Given the description of an element on the screen output the (x, y) to click on. 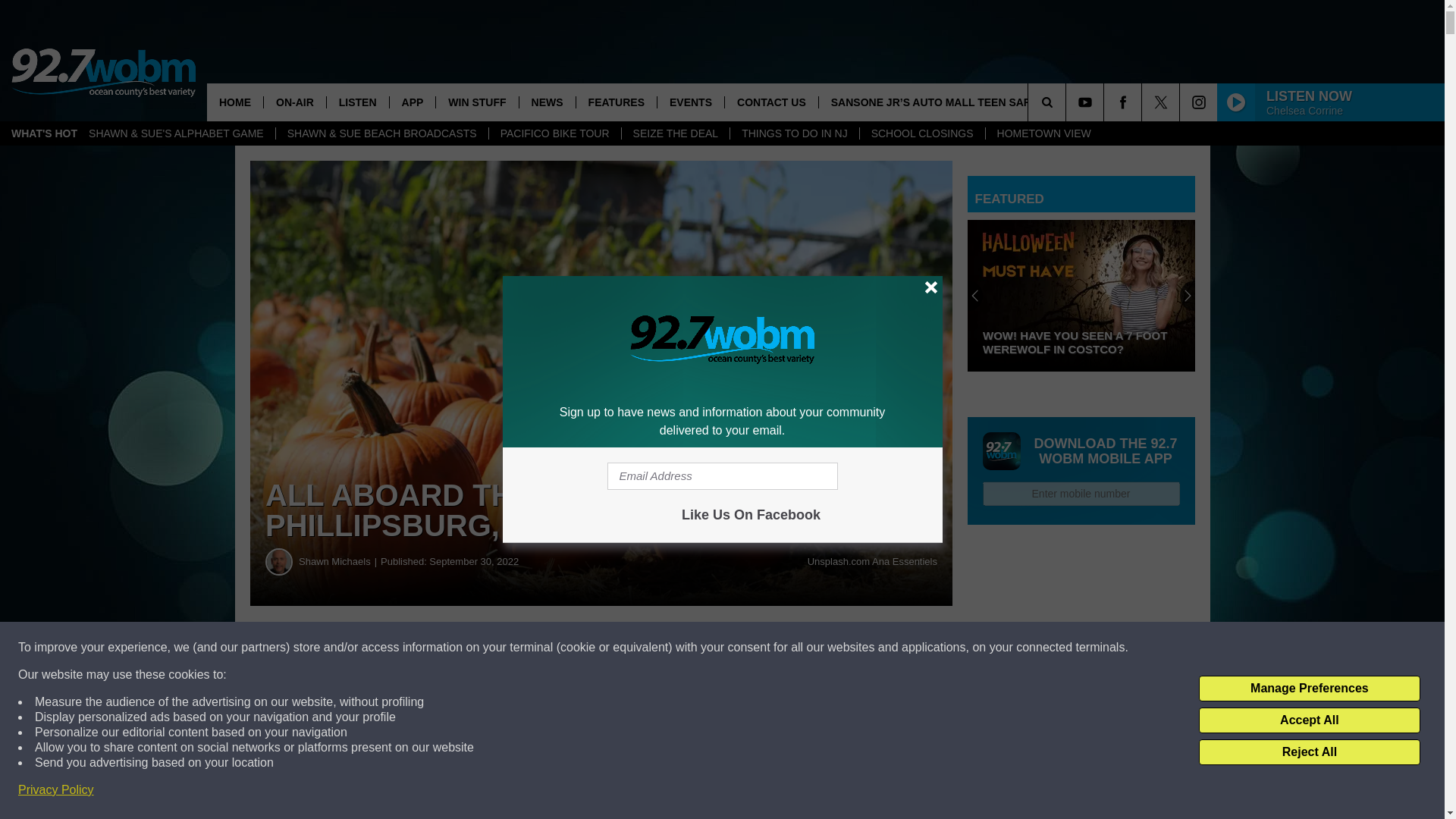
LISTEN (357, 102)
Accept All (1309, 720)
SEARCH (1068, 102)
SEIZE THE DEAL (675, 133)
HOME (234, 102)
Share on Twitter (741, 647)
HOMETOWN VIEW (1043, 133)
Email Address (722, 475)
Reject All (1309, 751)
APP (411, 102)
Manage Preferences (1309, 688)
Share on Facebook (460, 647)
ON-AIR (294, 102)
SEARCH (1068, 102)
SCHOOL CLOSINGS (922, 133)
